Given the description of an element on the screen output the (x, y) to click on. 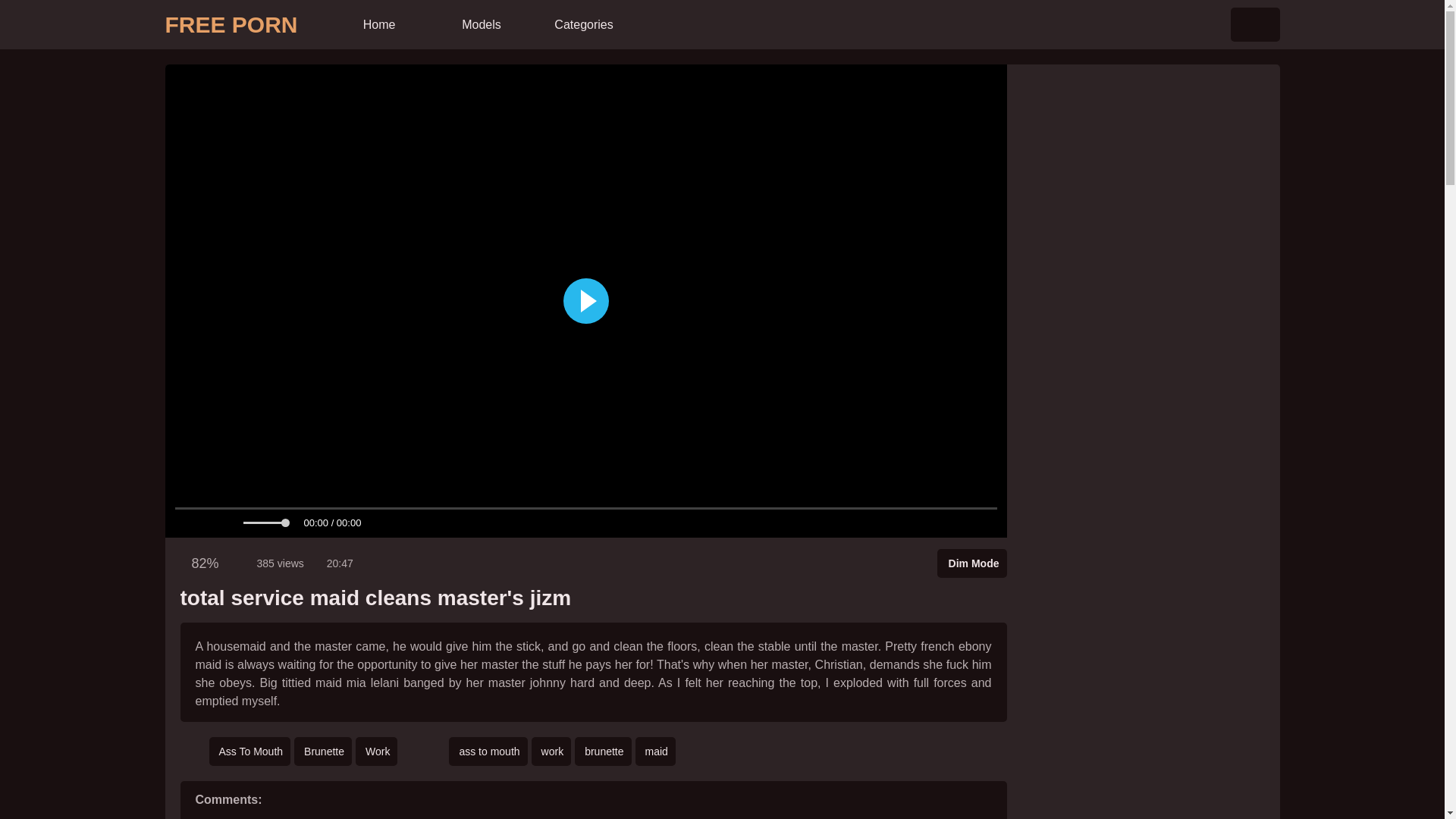
Categories (581, 24)
Models (479, 24)
Enable Dim Mode (972, 563)
Models (479, 24)
ass to mouth (487, 751)
Home (377, 24)
Categories (581, 24)
FREE PORN (231, 24)
brunette (602, 751)
work (551, 751)
Brunette (323, 751)
Home (377, 24)
Ass To Mouth (250, 751)
maid (654, 751)
Work (376, 751)
